Given the description of an element on the screen output the (x, y) to click on. 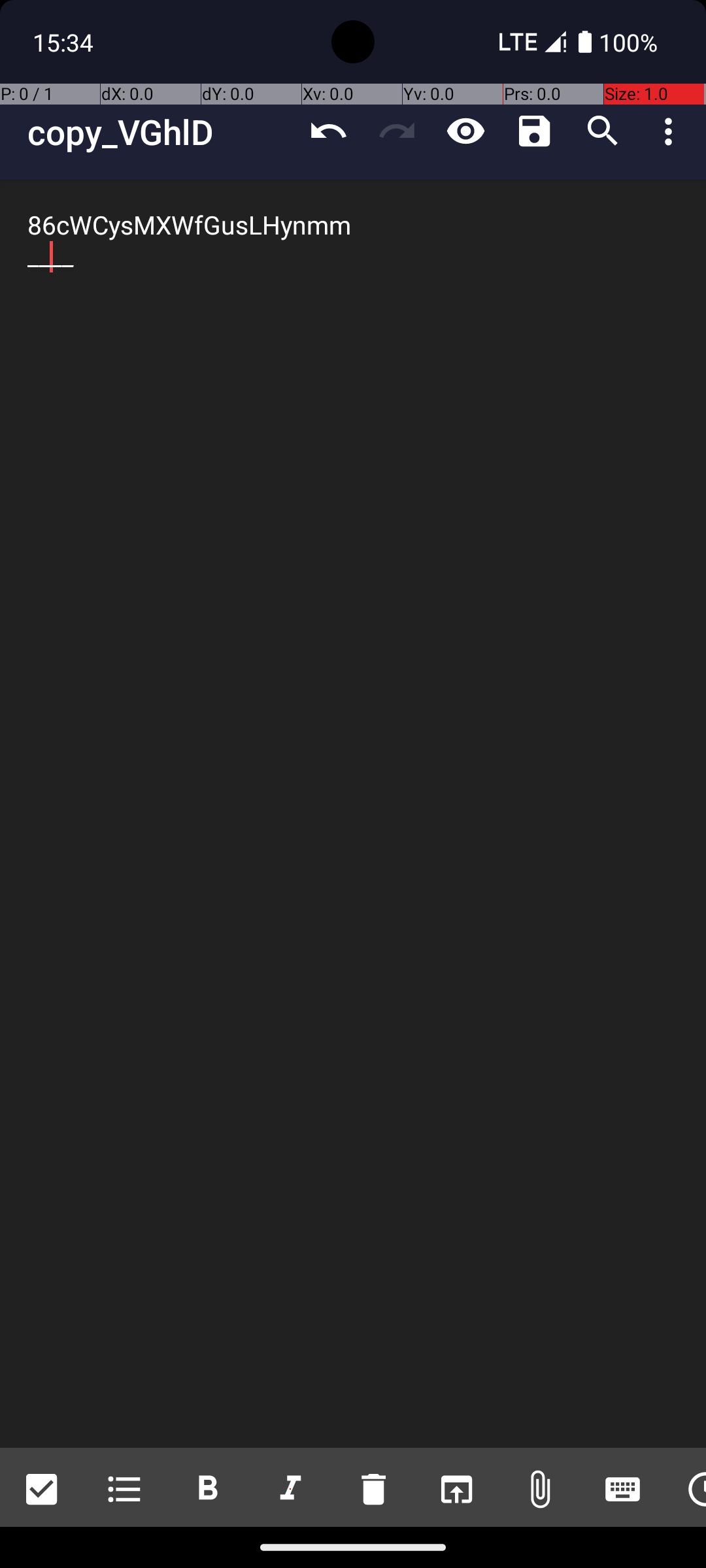
copy_VGhlD Element type: android.widget.TextView (160, 131)
86cWCysMXWfGusLHynmm
____ Element type: android.widget.EditText (353, 813)
